Given the description of an element on the screen output the (x, y) to click on. 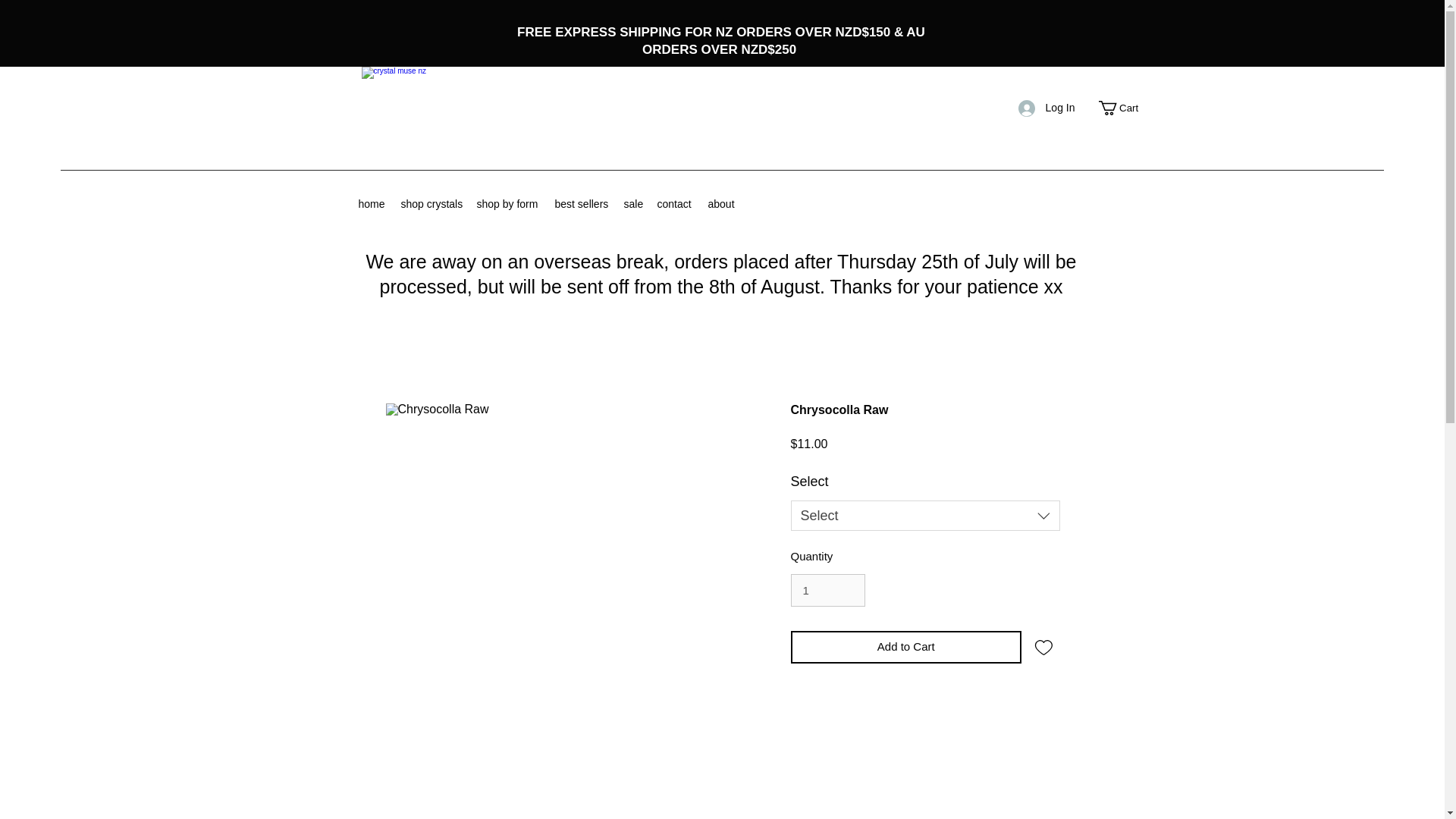
1 (827, 590)
Log In (1046, 108)
Cart (1125, 107)
shop crystals (430, 203)
home (371, 203)
Cart (1125, 107)
